Given the description of an element on the screen output the (x, y) to click on. 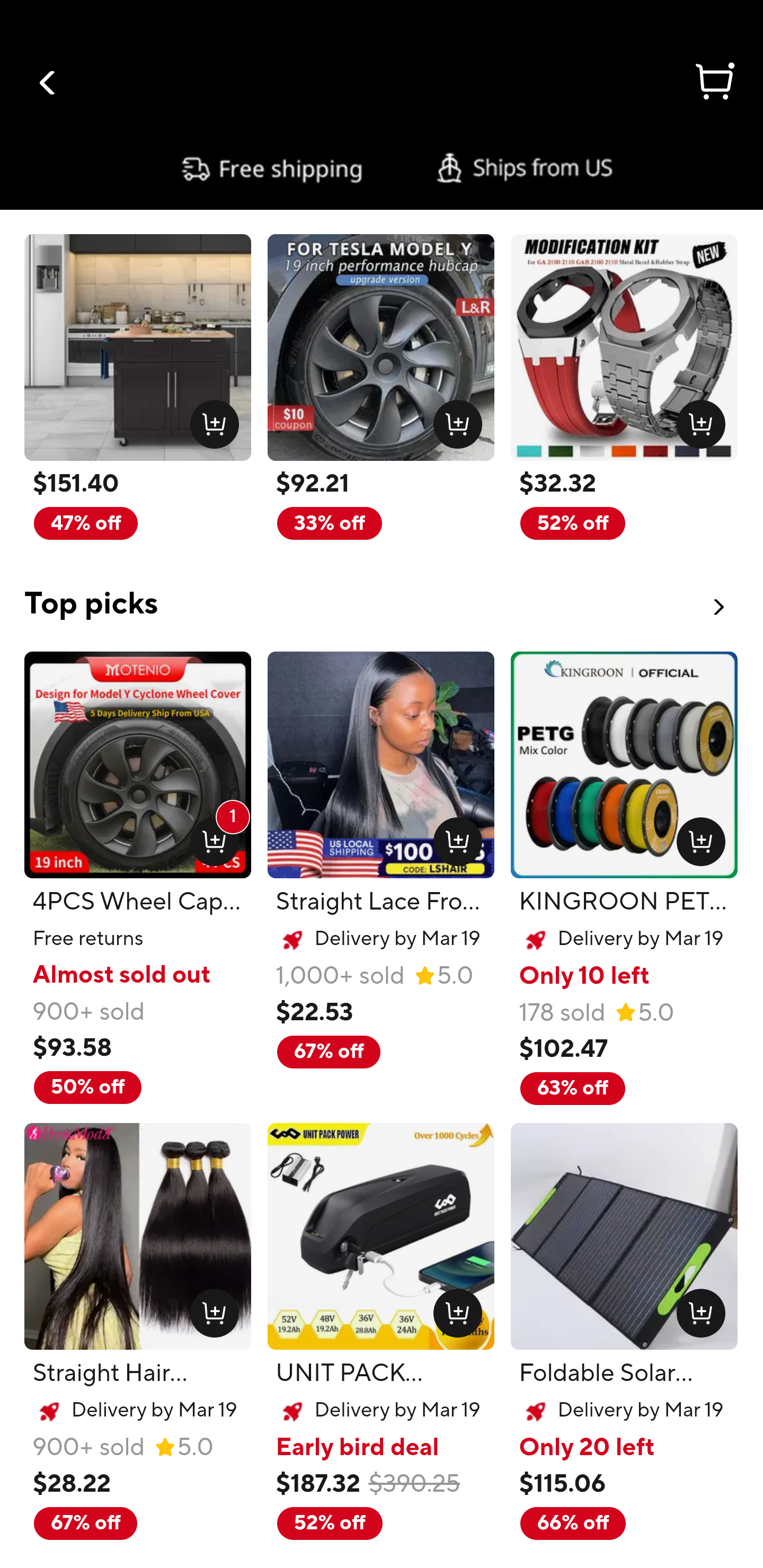
 (48, 82)
𓟄 (713, 83)
c3QEEjteiC&spm=a1z65.tm1000004905.1841234120 (381, 168)
128x128.png_ (210, 418)
128x128.png_ (453, 418)
128x128.png_ (695, 418)
Top picks  Top picks (381, 592)
1 128x128.png_ (210, 837)
128x128.png_ (453, 837)
128x128.png_ (695, 837)
128x128.png_ (210, 1309)
128x128.png_ (453, 1309)
128x128.png_ (695, 1309)
